Given the description of an element on the screen output the (x, y) to click on. 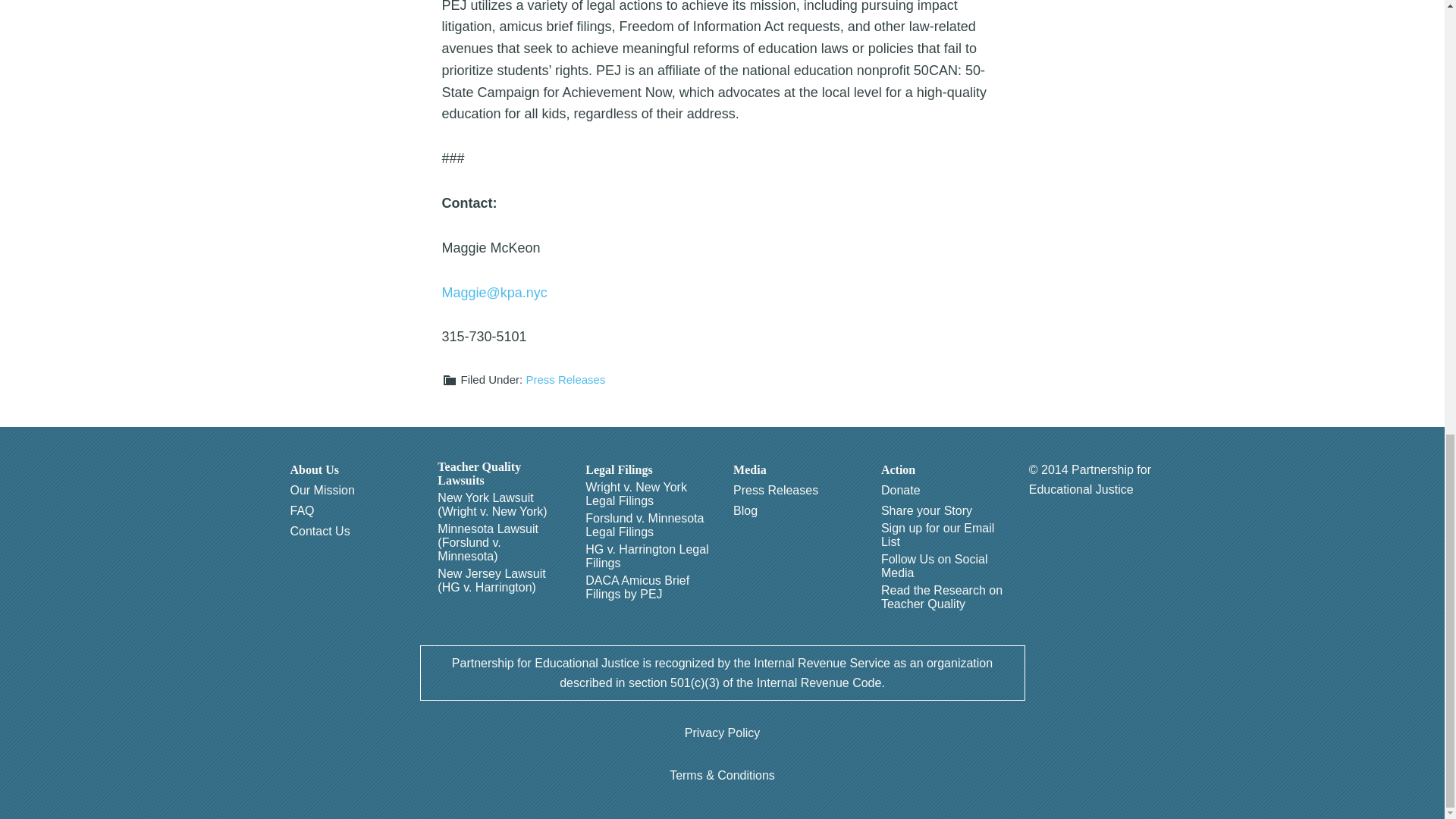
Teacher Quality Lawsuits (500, 473)
Privacy Policy (722, 732)
About Us (313, 469)
Our Mission (321, 490)
Press Releases (565, 379)
Contact Us (319, 531)
FAQ (301, 510)
